Given the description of an element on the screen output the (x, y) to click on. 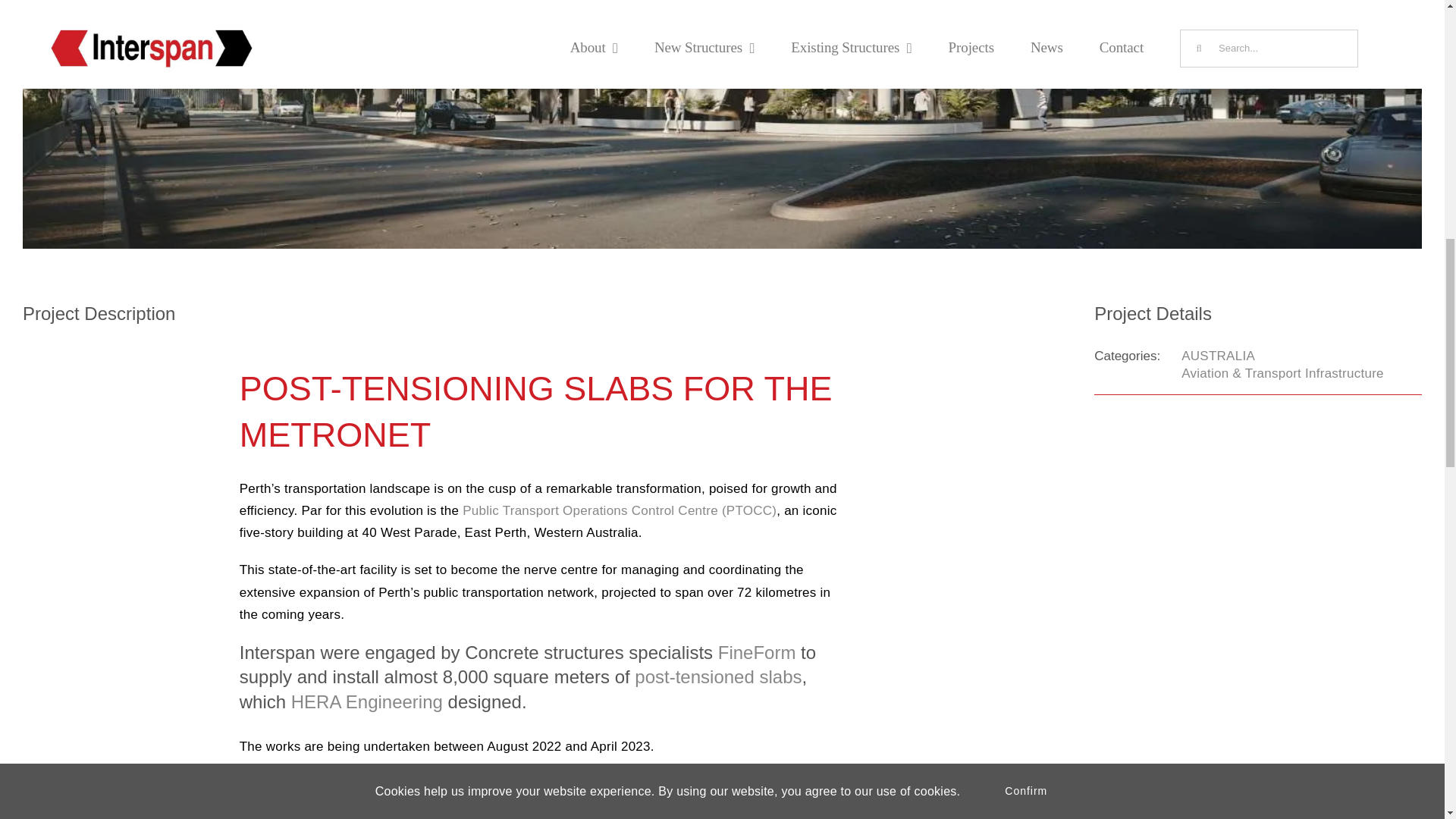
Specialist Slab Post-Tensioning (716, 676)
FineForm (756, 652)
post-tensioned slabs (716, 676)
HERA Engineering (366, 701)
